Given the description of an element on the screen output the (x, y) to click on. 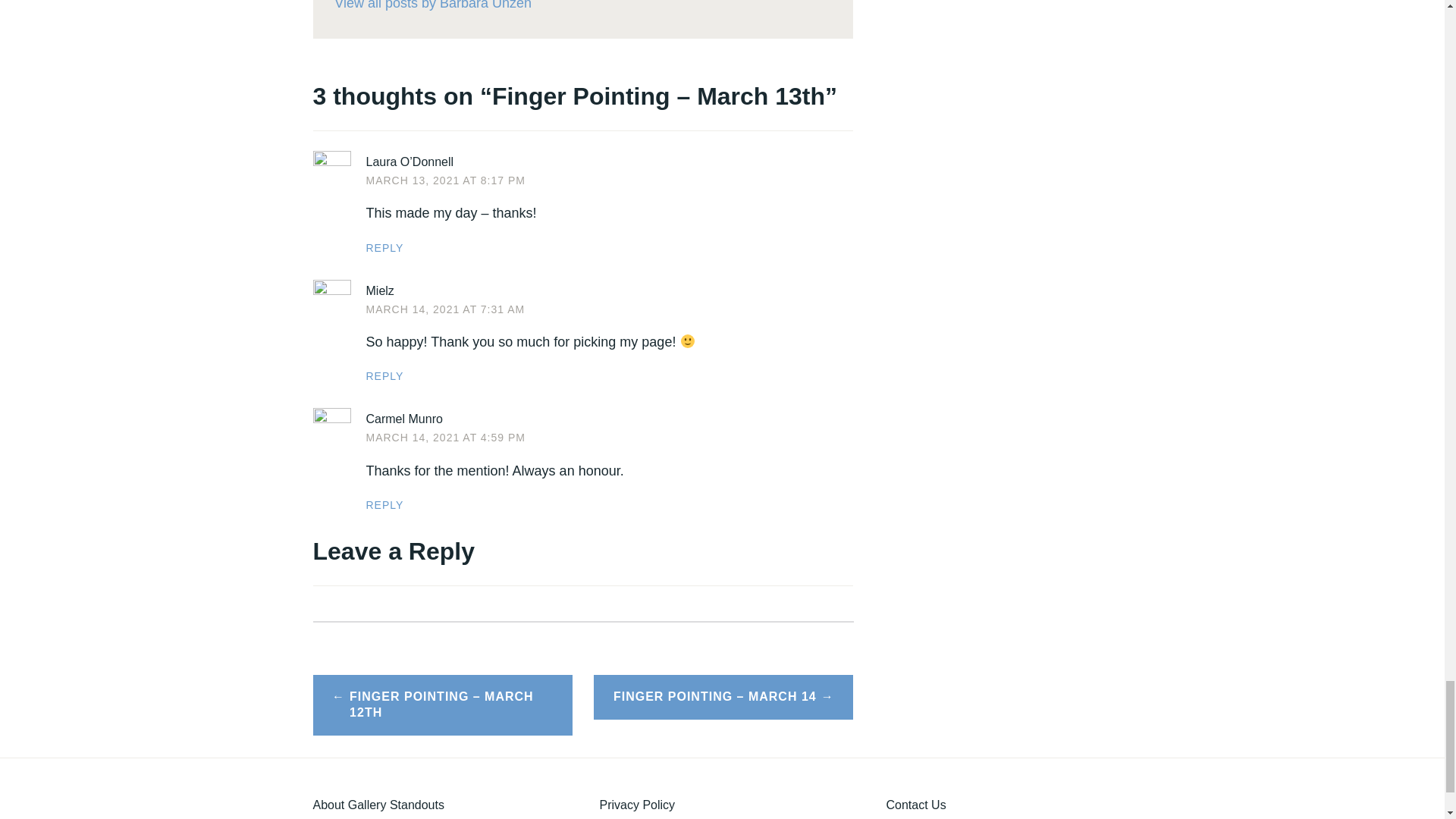
MARCH 13, 2021 AT 8:17 PM (444, 180)
MARCH 14, 2021 AT 7:31 AM (444, 309)
REPLY (384, 504)
View all posts by Barbara Unzen (582, 8)
REPLY (384, 376)
MARCH 14, 2021 AT 4:59 PM (444, 437)
REPLY (384, 247)
